Given the description of an element on the screen output the (x, y) to click on. 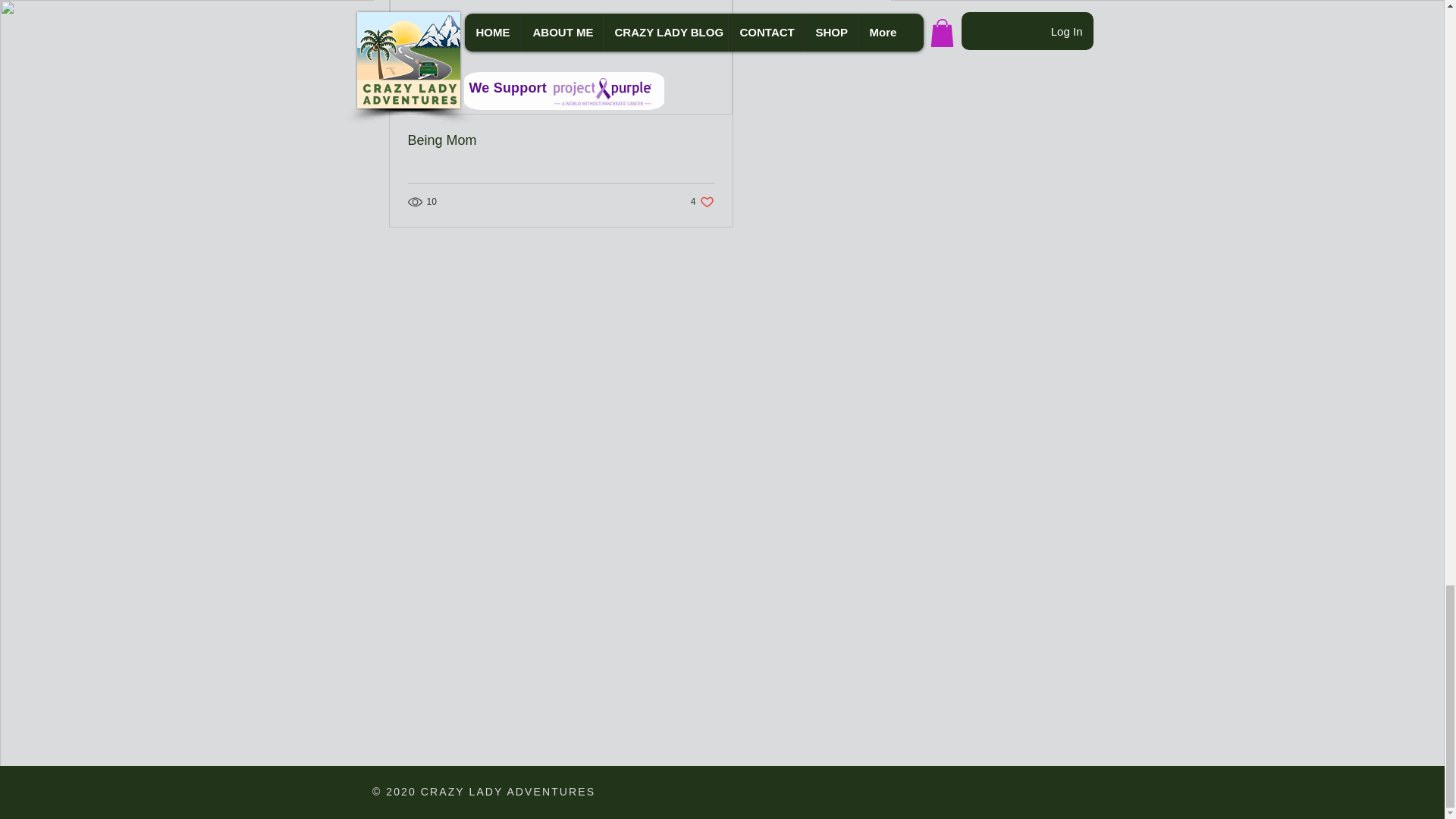
Being Mom (702, 201)
